Given the description of an element on the screen output the (x, y) to click on. 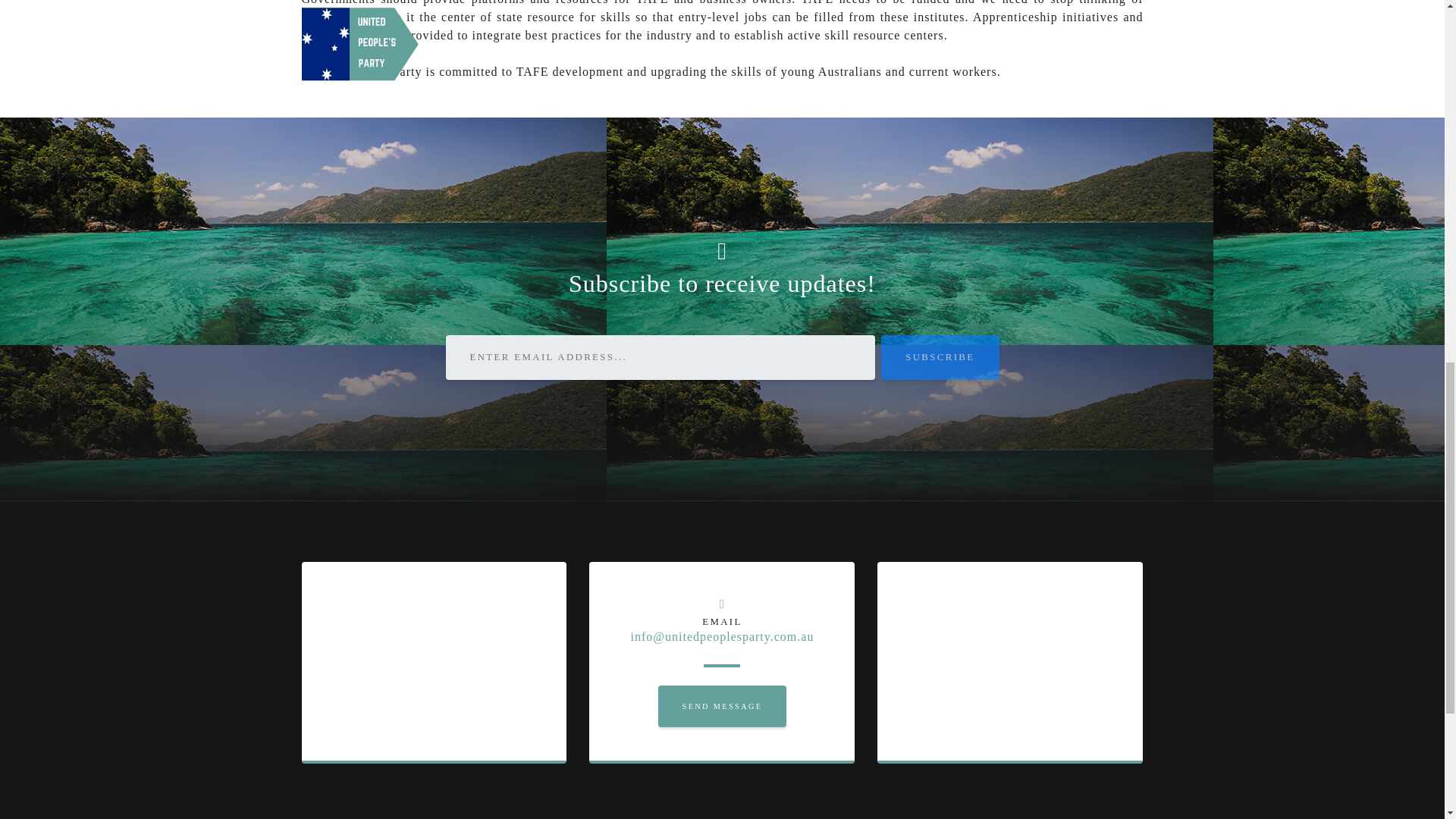
SEND MESSAGE (722, 706)
SUBSCRIBE (939, 357)
SEND MESSAGE (722, 706)
